Given the description of an element on the screen output the (x, y) to click on. 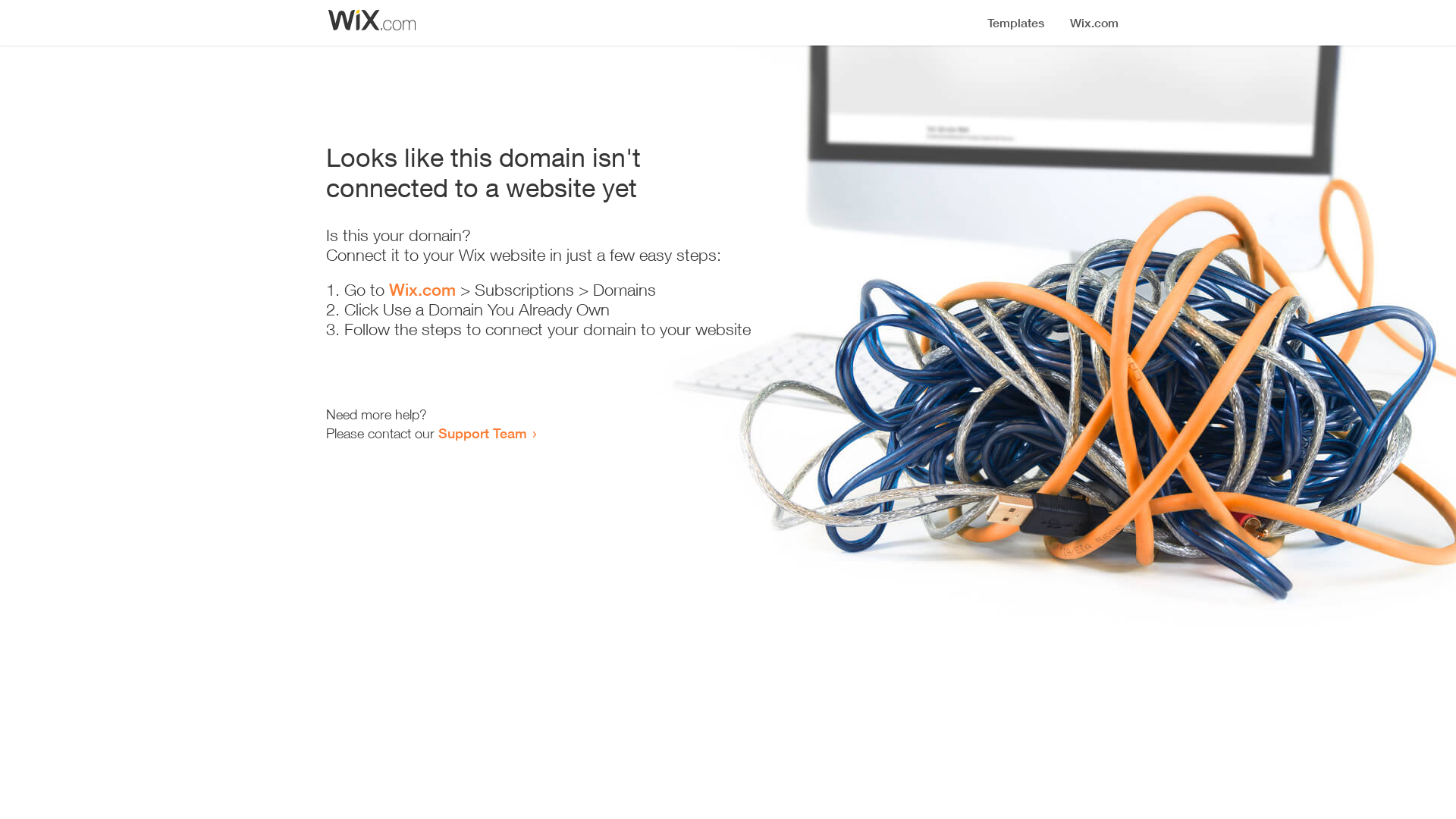
Support Team Element type: text (482, 432)
Wix.com Element type: text (422, 289)
